Given the description of an element on the screen output the (x, y) to click on. 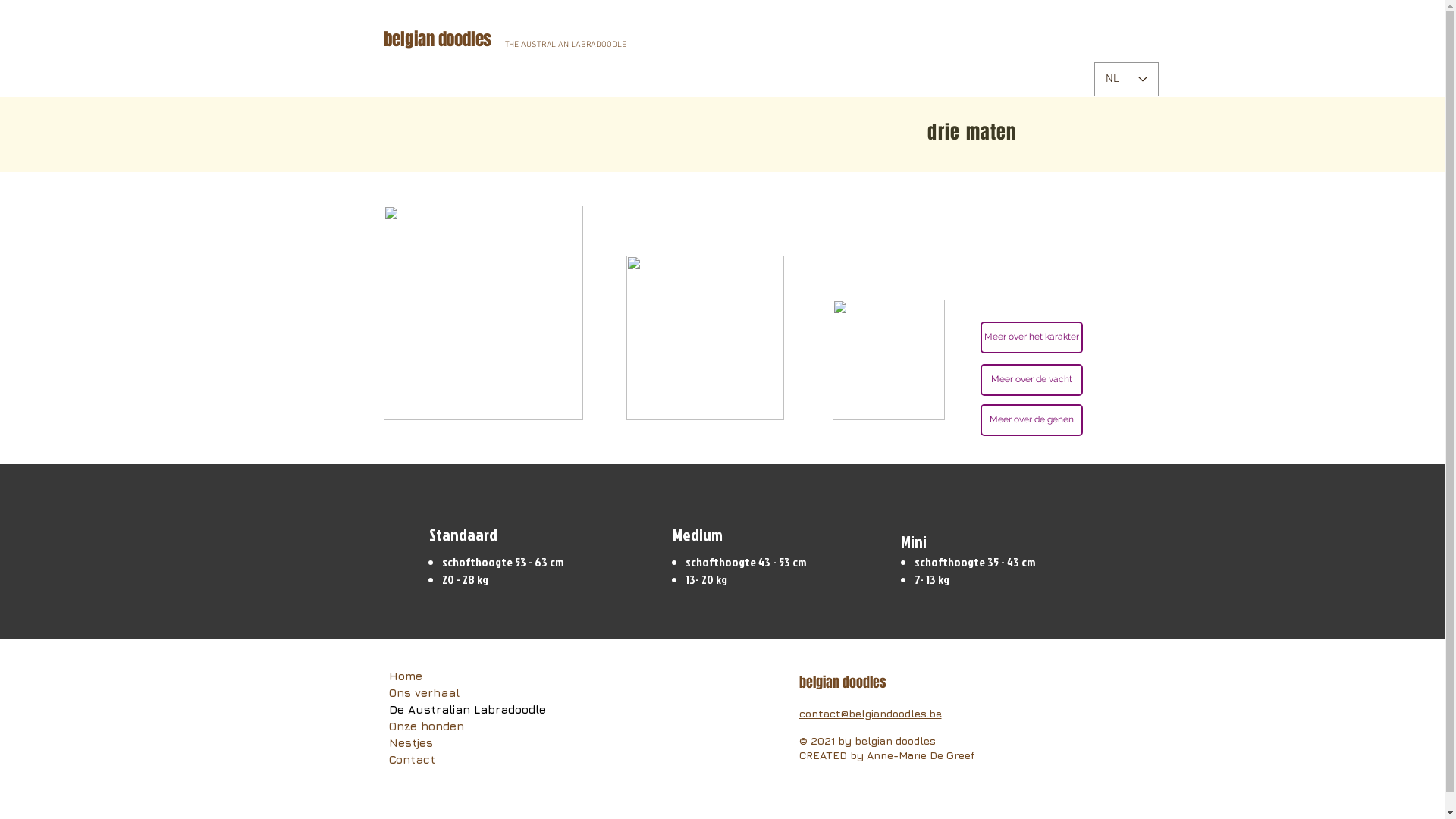
Home Element type: text (466, 676)
Contact Element type: text (466, 759)
De Australian Labradoodle Element type: text (466, 709)
Onze honden Element type: text (466, 726)
Meer over de vacht Element type: text (1030, 379)
contact@belgiandoodles.be Element type: text (870, 714)
Meer over de genen Element type: text (1030, 420)
Meer over het karakter Element type: text (1030, 337)
Ons verhaal Element type: text (466, 692)
Nestjes Element type: text (466, 742)
